Given the description of an element on the screen output the (x, y) to click on. 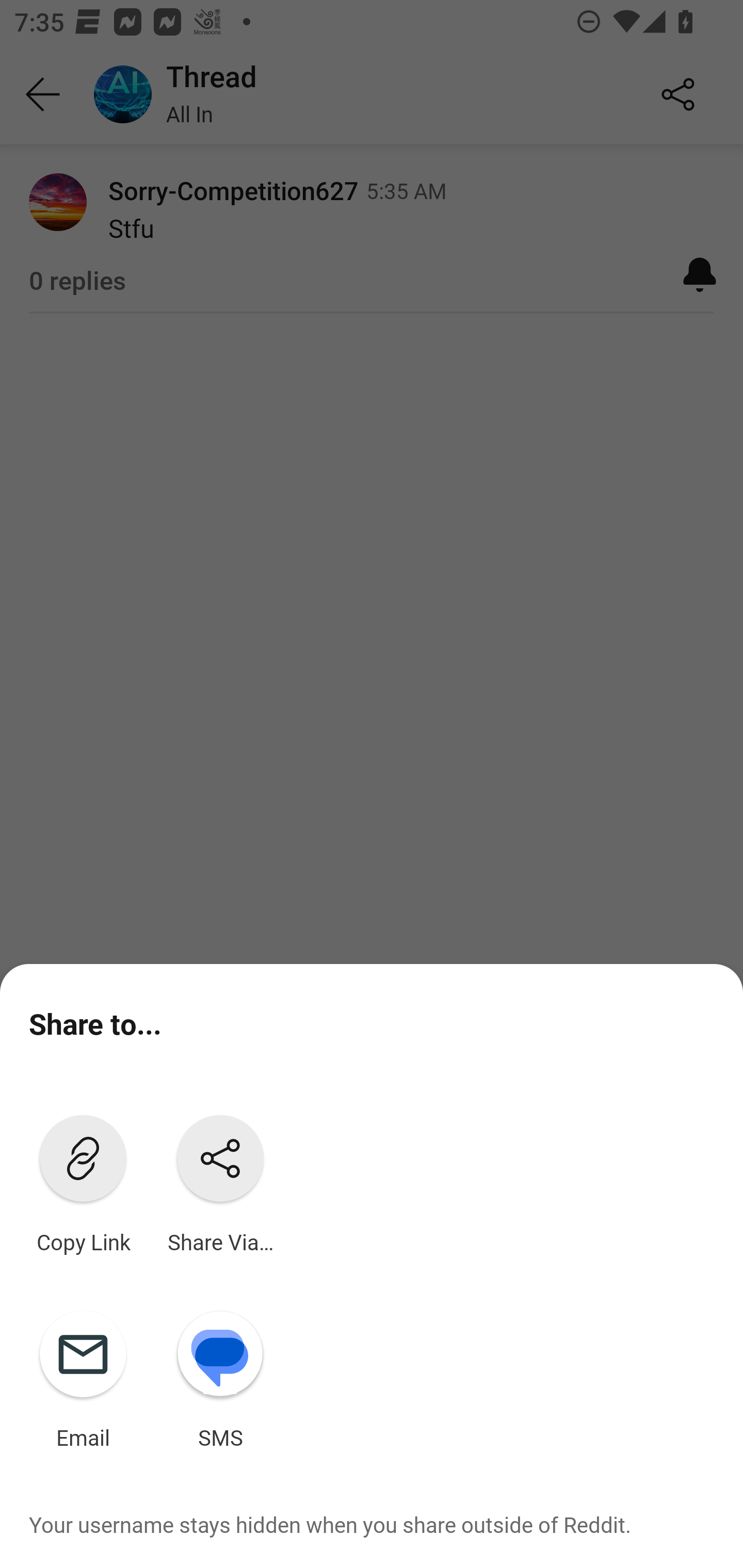
Copy Link (82, 1179)
Share Via… (220, 1179)
Email (82, 1375)
SMS (220, 1375)
